Given the description of an element on the screen output the (x, y) to click on. 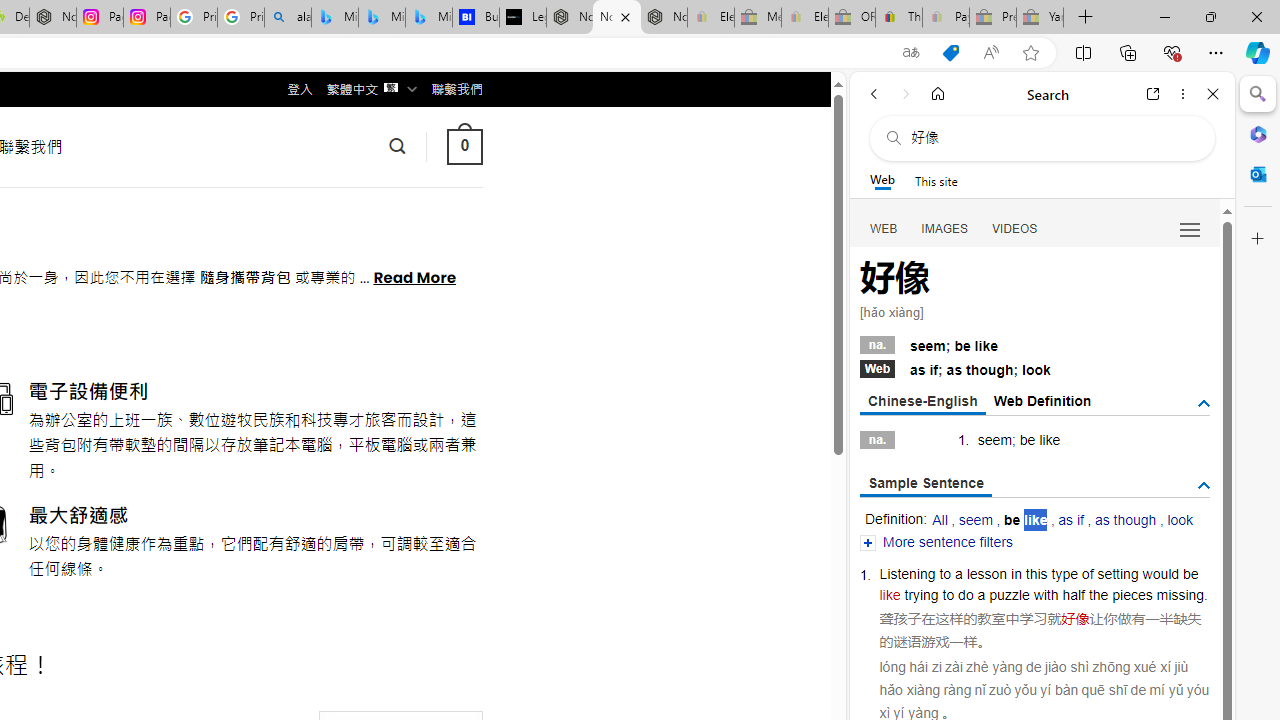
this (1036, 573)
as (953, 370)
be (1026, 439)
the (1098, 594)
with (1045, 594)
AutomationID: tgdef_sen (1203, 485)
